Given the description of an element on the screen output the (x, y) to click on. 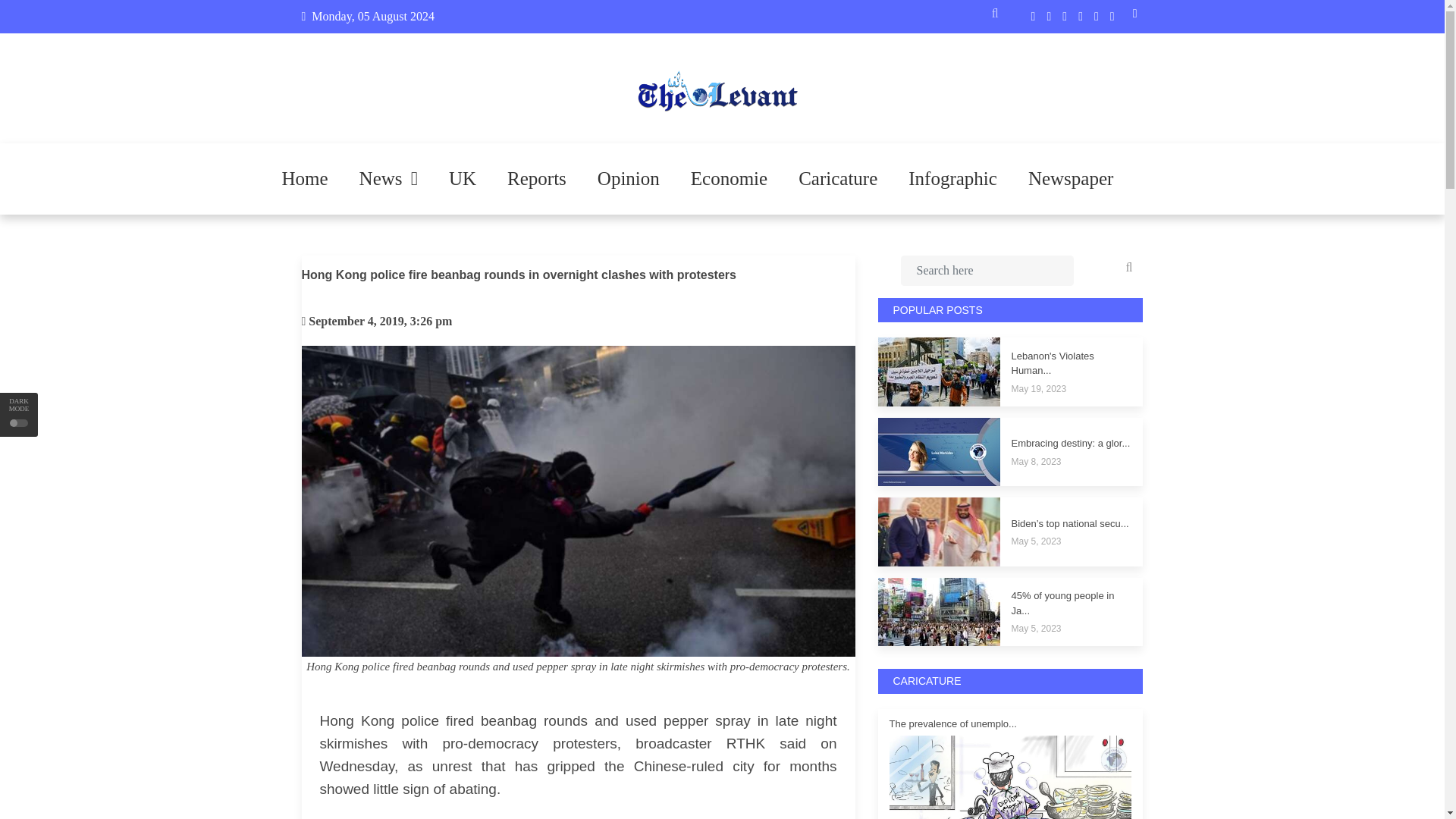
Newspaper (1070, 178)
Economie (729, 178)
Home (304, 178)
Opinion (628, 178)
News (387, 178)
Infographic (952, 178)
UK (462, 178)
Reports (536, 178)
Caricature (837, 178)
September 4, 2019, 3:26 pm (379, 320)
